Given the description of an element on the screen output the (x, y) to click on. 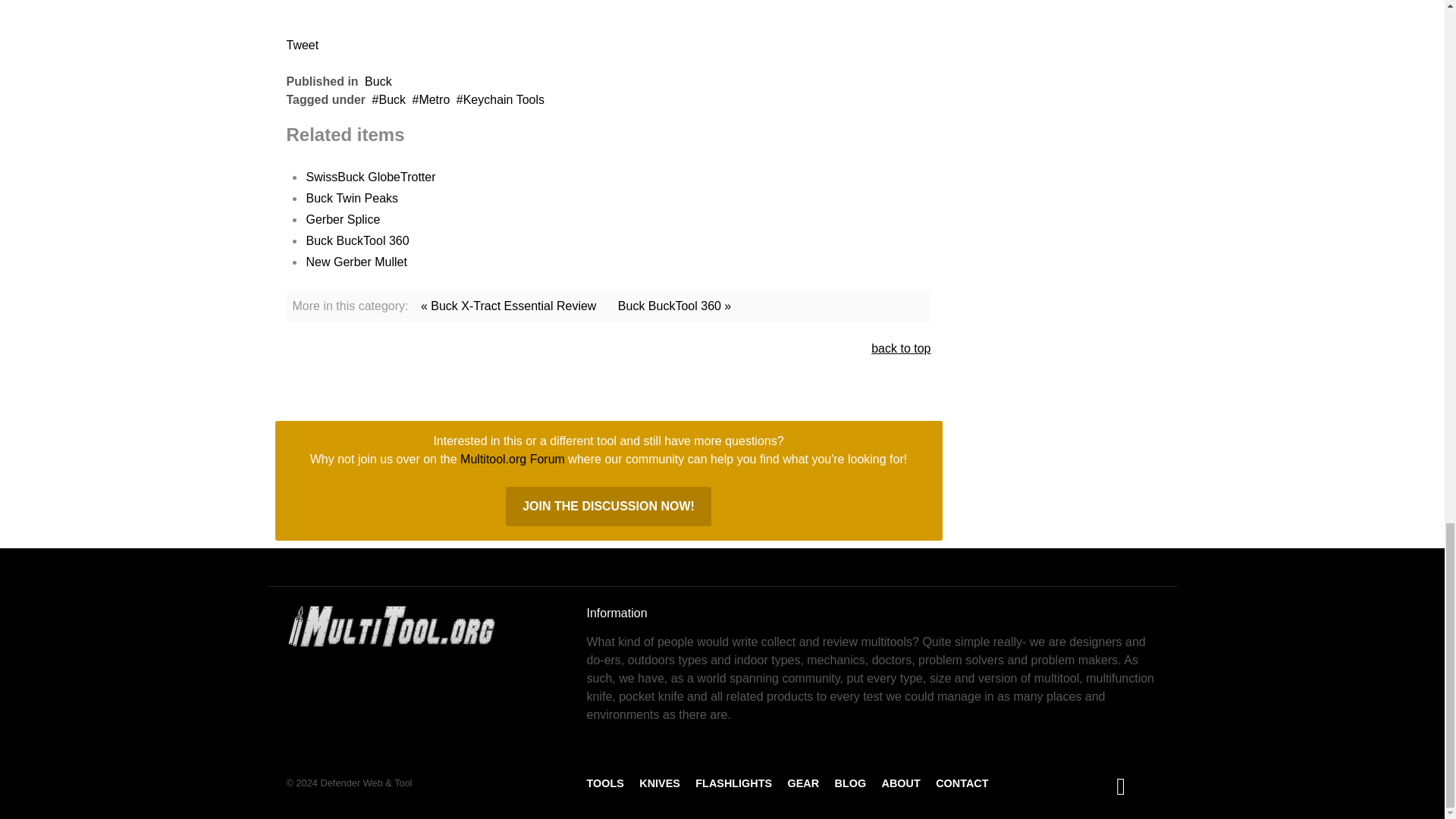
About (901, 783)
Contact (962, 783)
Gear (802, 783)
Knives (659, 783)
Flashlights (733, 783)
Tools (605, 783)
Blog (850, 783)
